Given the description of an element on the screen output the (x, y) to click on. 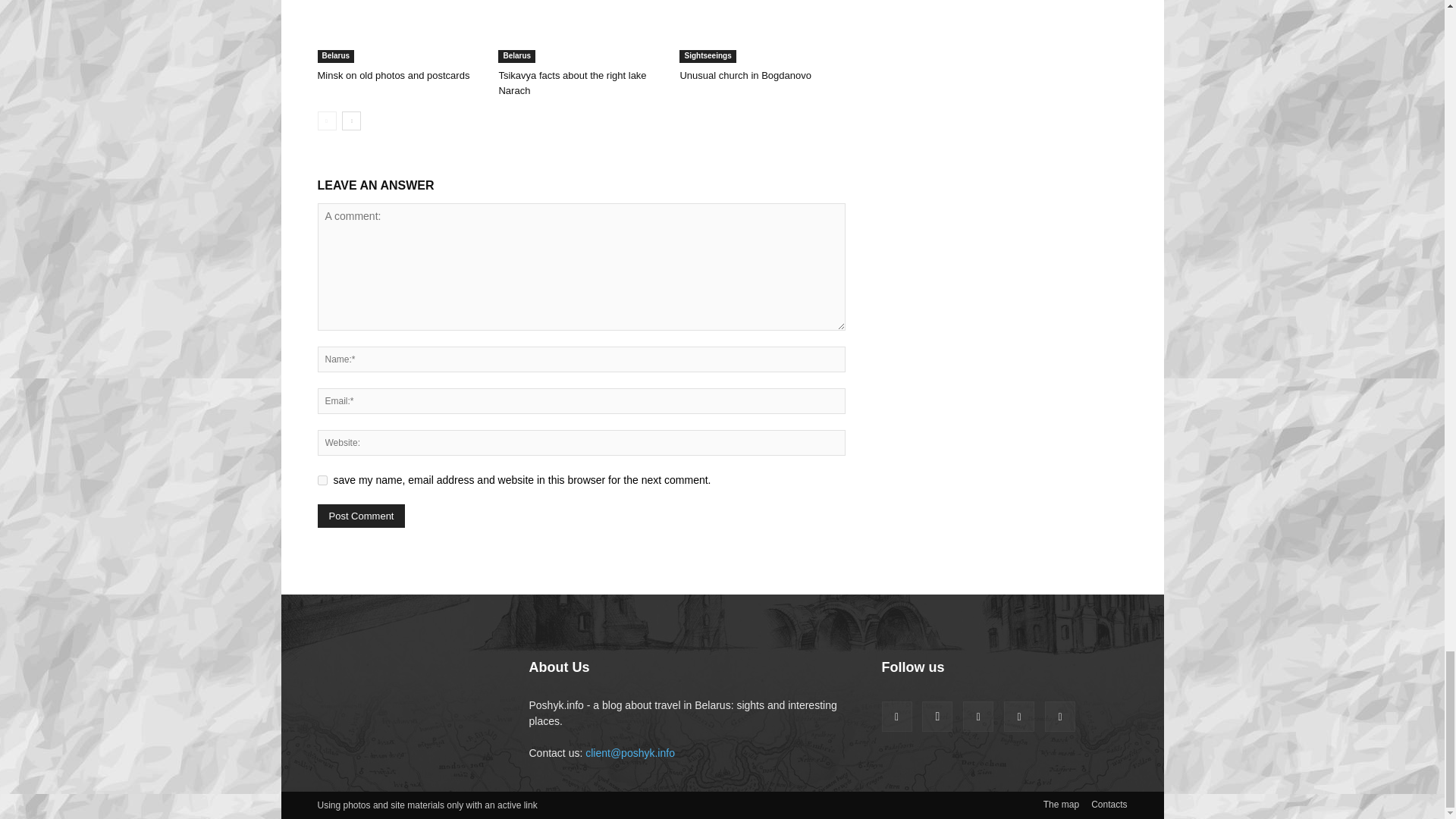
yes (321, 480)
Post Comment (360, 515)
